Given the description of an element on the screen output the (x, y) to click on. 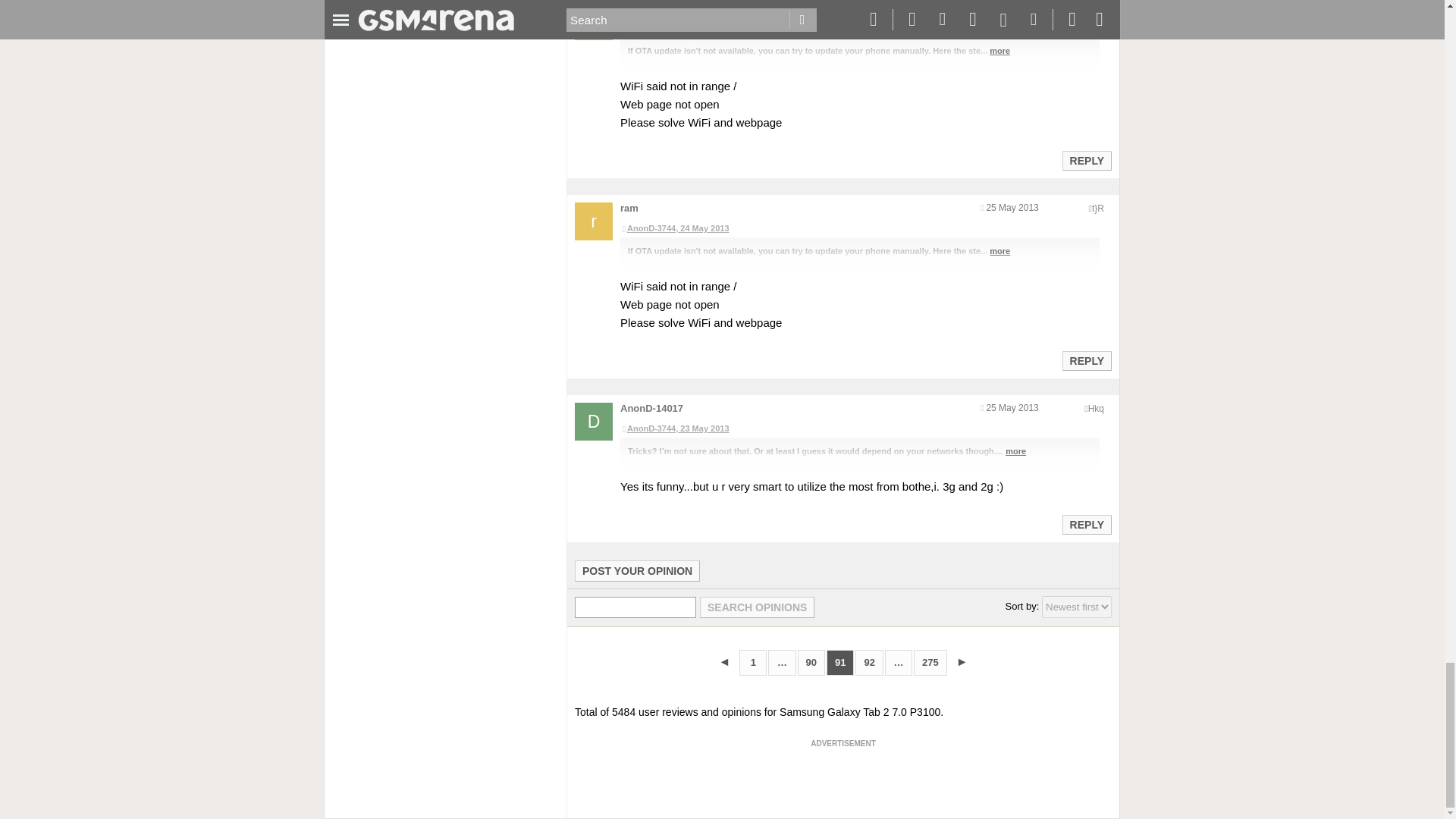
Search opinions (756, 607)
